Given the description of an element on the screen output the (x, y) to click on. 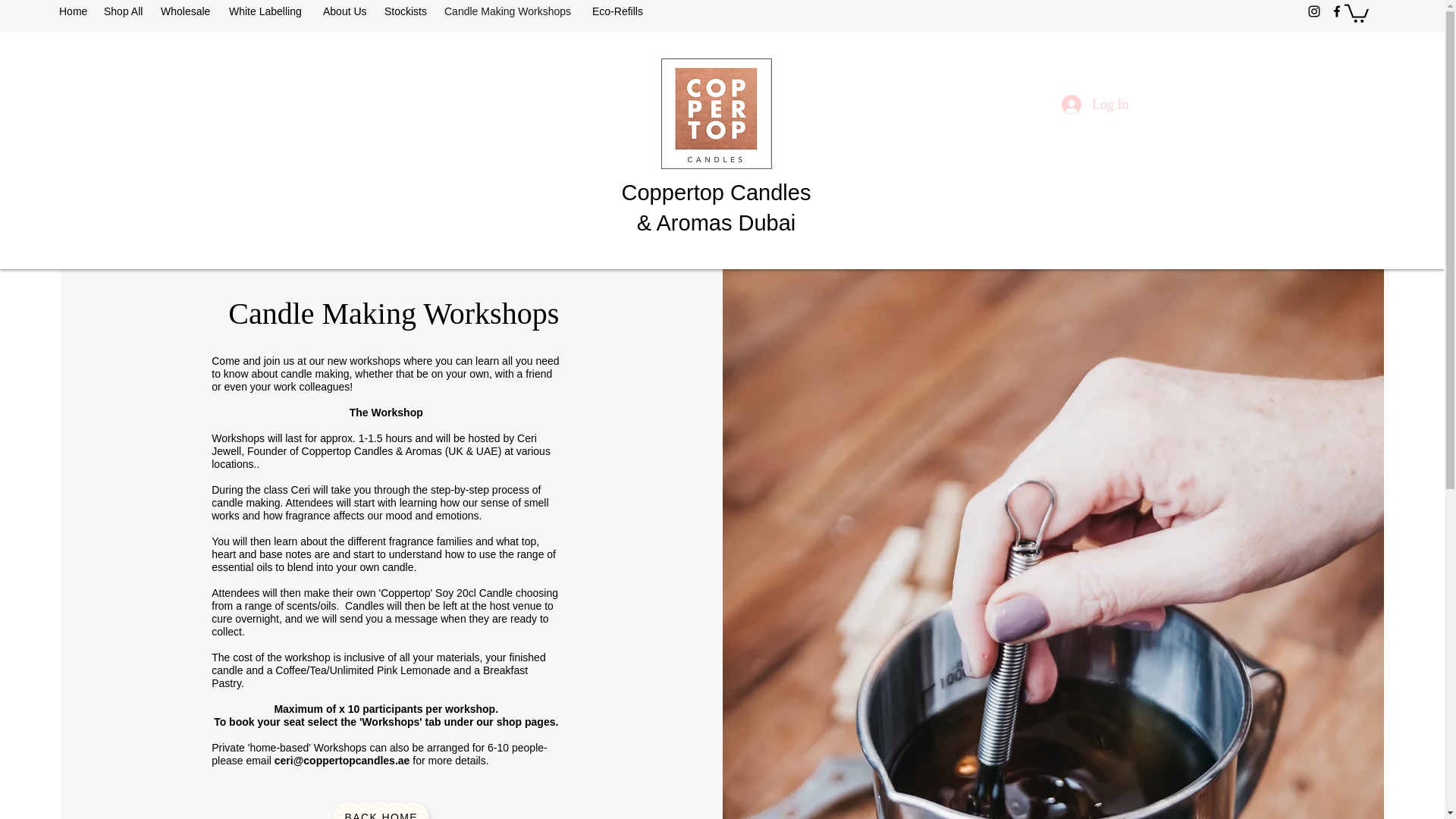
Stockists (406, 11)
White Labelling (268, 11)
Candle Making Workshops (510, 11)
Wholesale (186, 11)
BACK HOME (381, 810)
Shop All (124, 11)
Home (73, 11)
About Us (346, 11)
Eco-Refills (618, 11)
Log In (1095, 105)
